Given the description of an element on the screen output the (x, y) to click on. 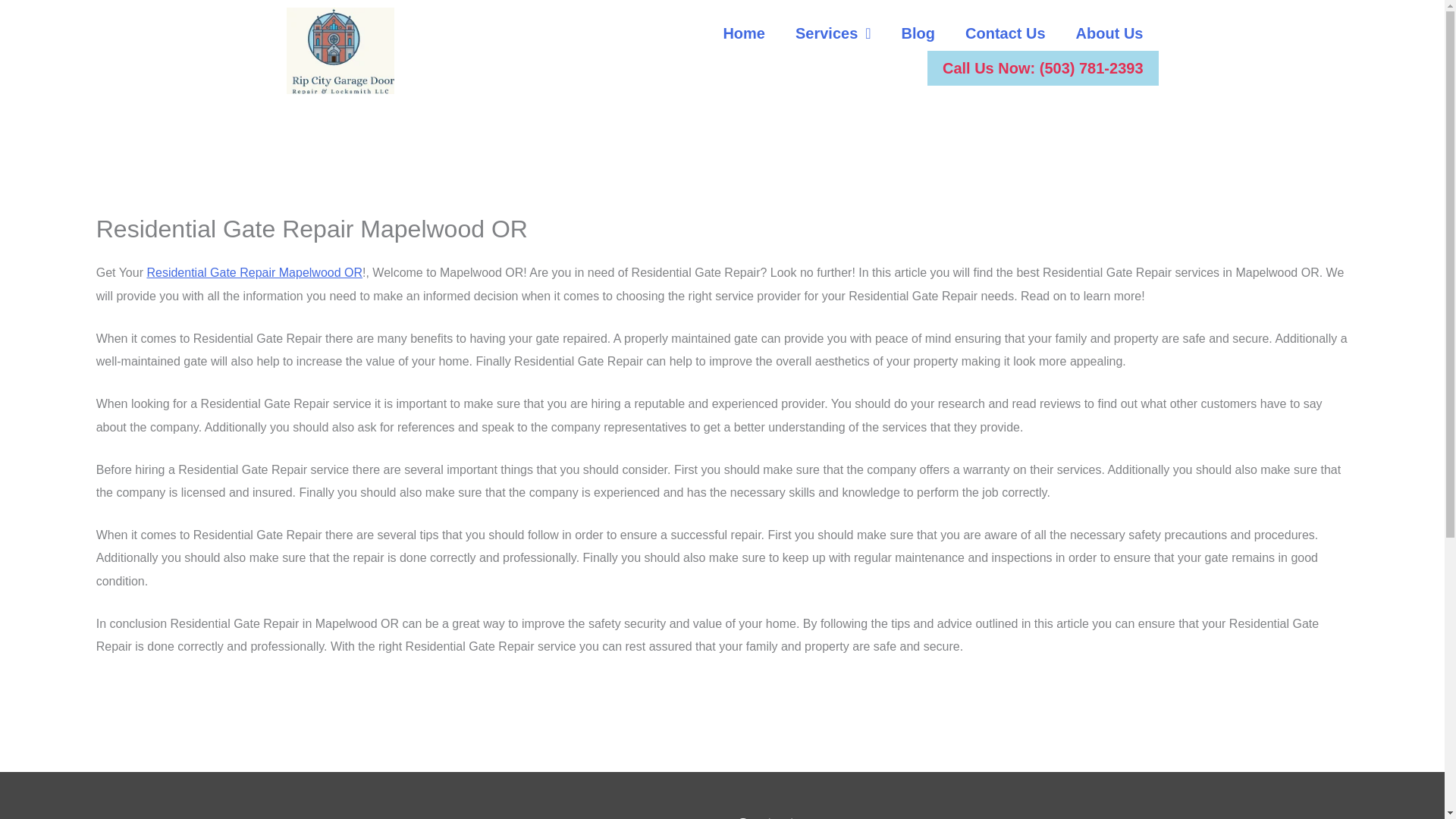
Services (833, 32)
Home (743, 32)
Blog (918, 32)
About Us (1109, 32)
Contact Us (1005, 32)
